Given the description of an element on the screen output the (x, y) to click on. 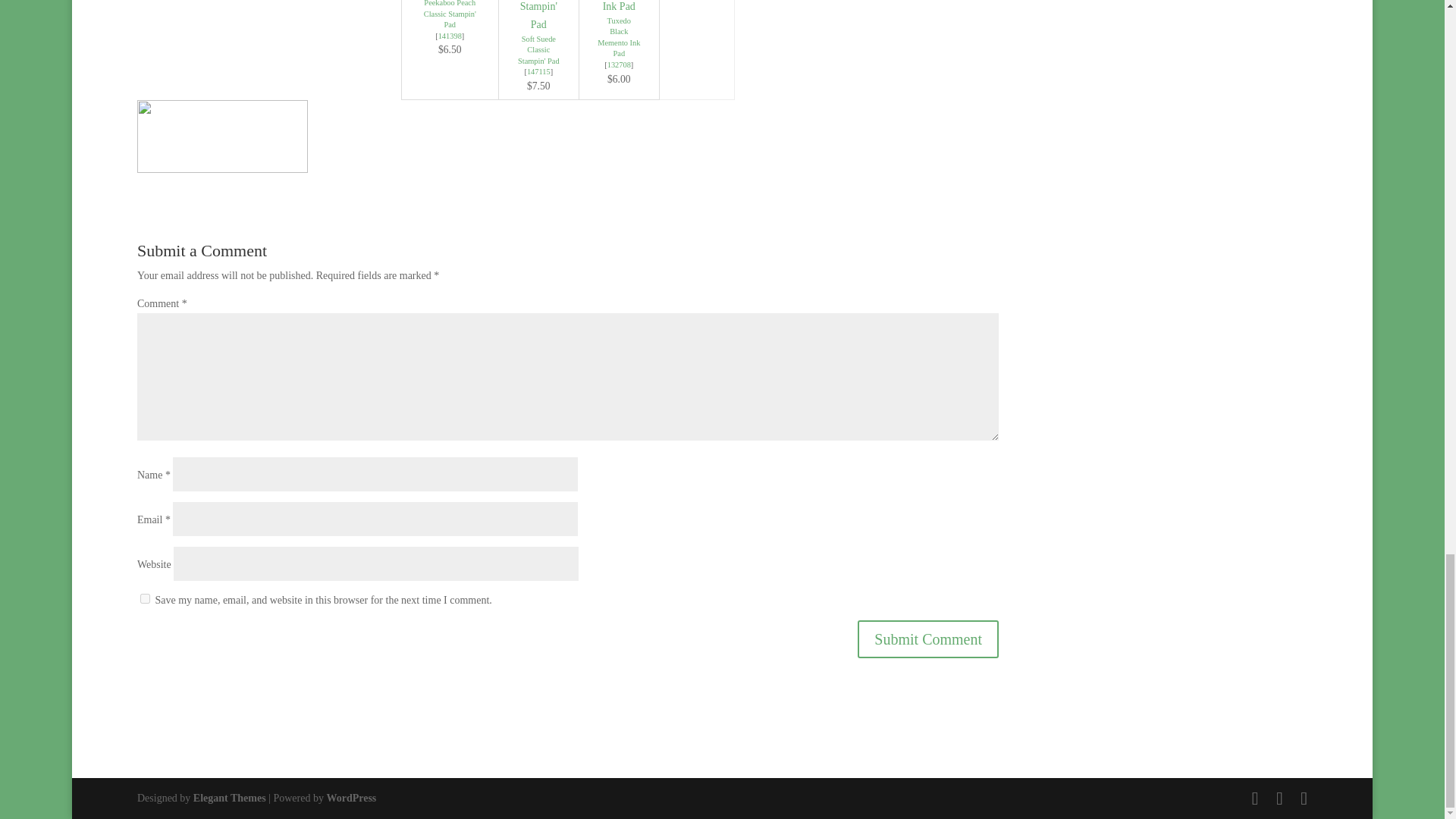
Submit Comment (927, 638)
yes (144, 598)
Peekaboo Peach Classic Stampin' Pad (449, 14)
Soft Suede Classic Stampin' Pad (538, 50)
141398 (449, 35)
